Given the description of an element on the screen output the (x, y) to click on. 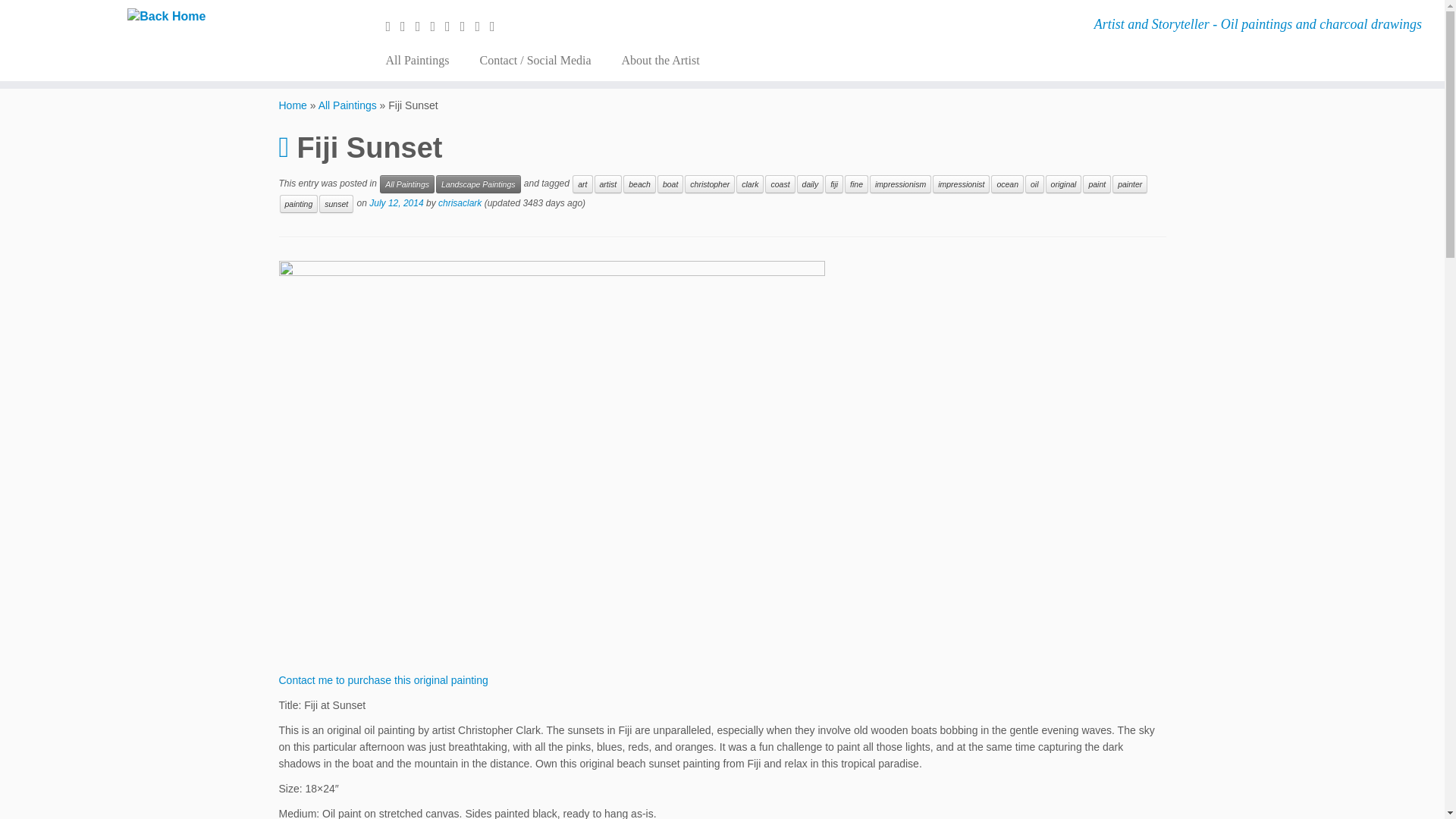
ocean (1007, 184)
clark (749, 184)
Follow me on Instagram (437, 26)
July 12, 2014 (396, 203)
Follow me on Tumblr (452, 26)
original (1063, 184)
beach (639, 184)
Follow me on Youtube (481, 26)
paint (1096, 184)
impressionist (961, 184)
